Given the description of an element on the screen output the (x, y) to click on. 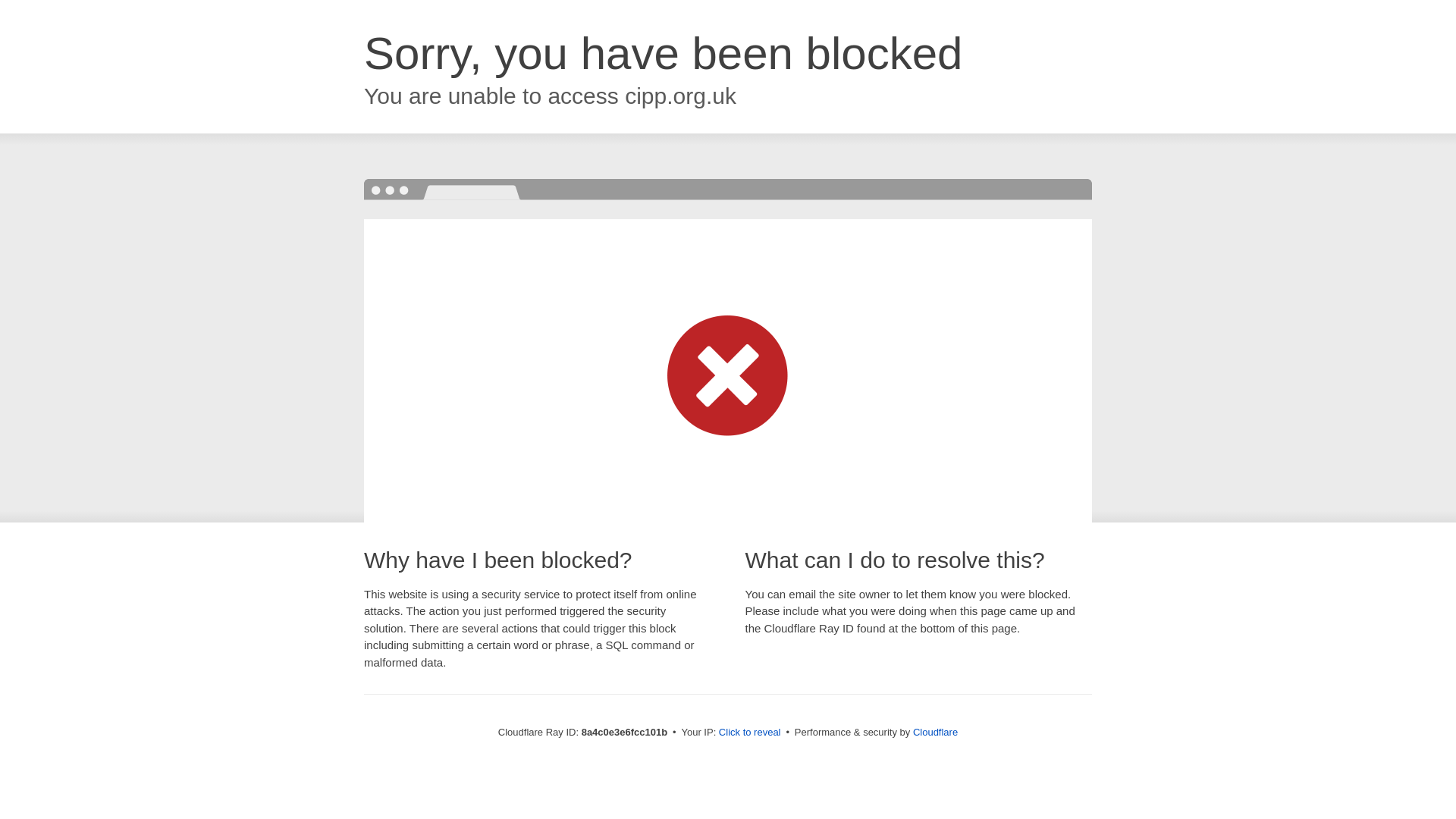
Click to reveal (749, 732)
Cloudflare (935, 731)
